Given the description of an element on the screen output the (x, y) to click on. 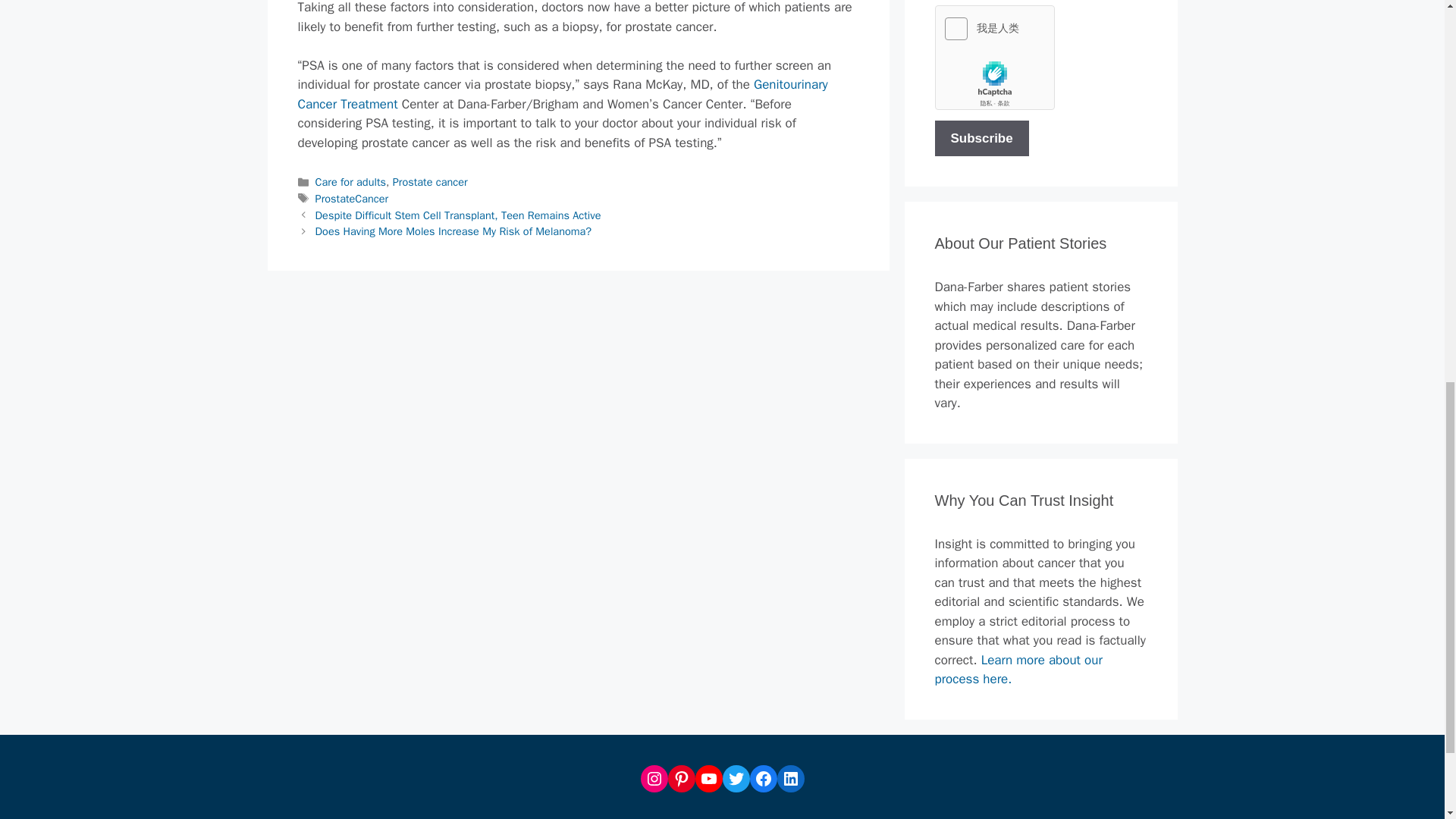
Subscribe (980, 137)
Subscribe (980, 137)
Prostate cancer (430, 182)
Despite Difficult Stem Cell Transplant, Teen Remains Active (458, 214)
Genitourinary Cancer Treatment (562, 94)
ProstateCancer (351, 198)
Does Having More Moles Increase My Risk of Melanoma? (453, 231)
Care for adults (350, 182)
Learn more about our process here. (1018, 669)
